Given the description of an element on the screen output the (x, y) to click on. 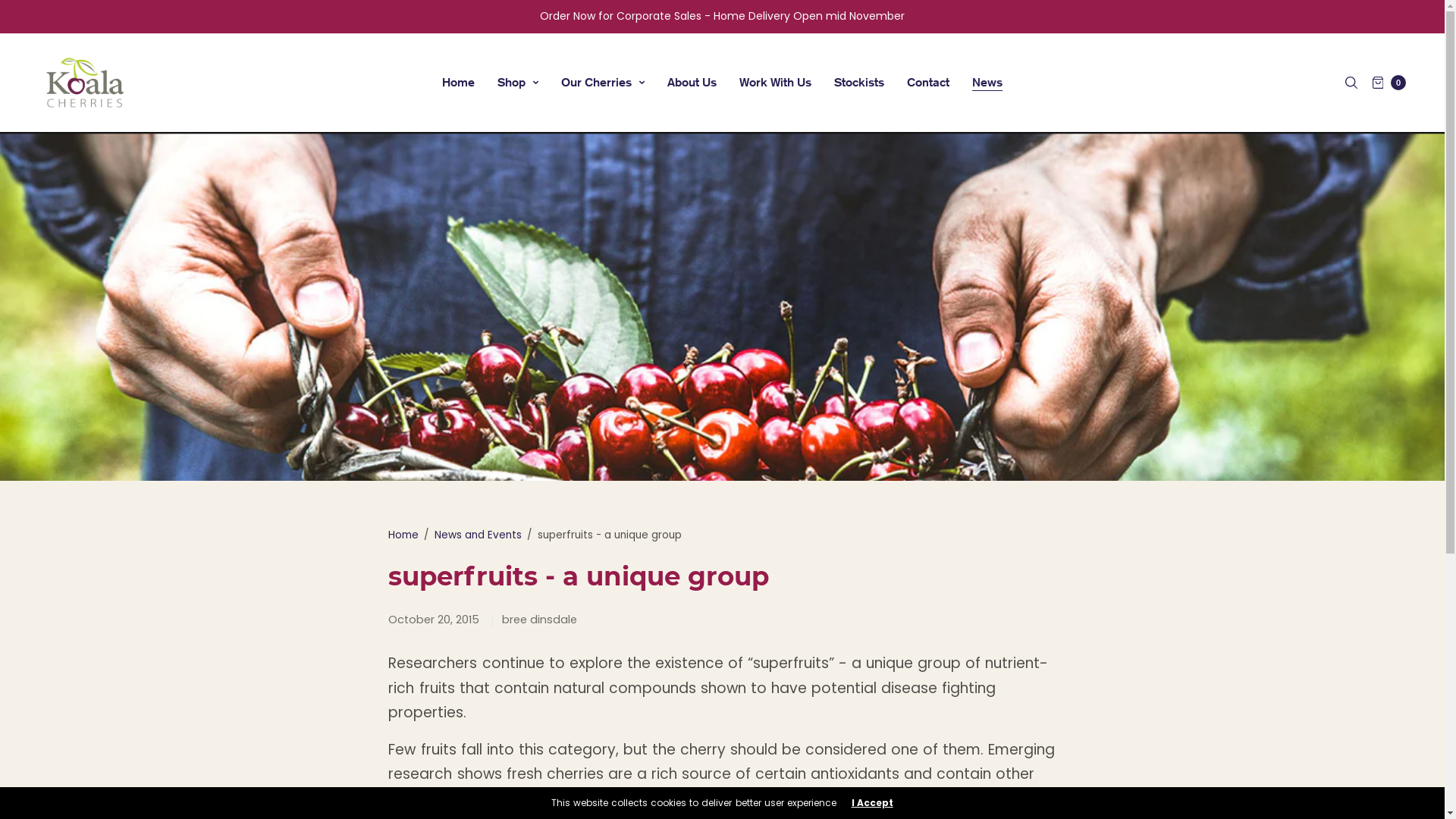
Contact Element type: text (927, 82)
About Us Element type: text (691, 82)
News Element type: text (987, 82)
Home Element type: text (458, 82)
Shop Element type: text (517, 82)
0 Element type: text (1388, 82)
I Accept Element type: text (872, 802)
Stockists Element type: text (859, 82)
Our Cherries Element type: text (602, 82)
Work With Us Element type: text (775, 82)
Home Element type: text (403, 534)
Search Element type: text (22, 6)
News and Events Element type: text (477, 534)
